Given the description of an element on the screen output the (x, y) to click on. 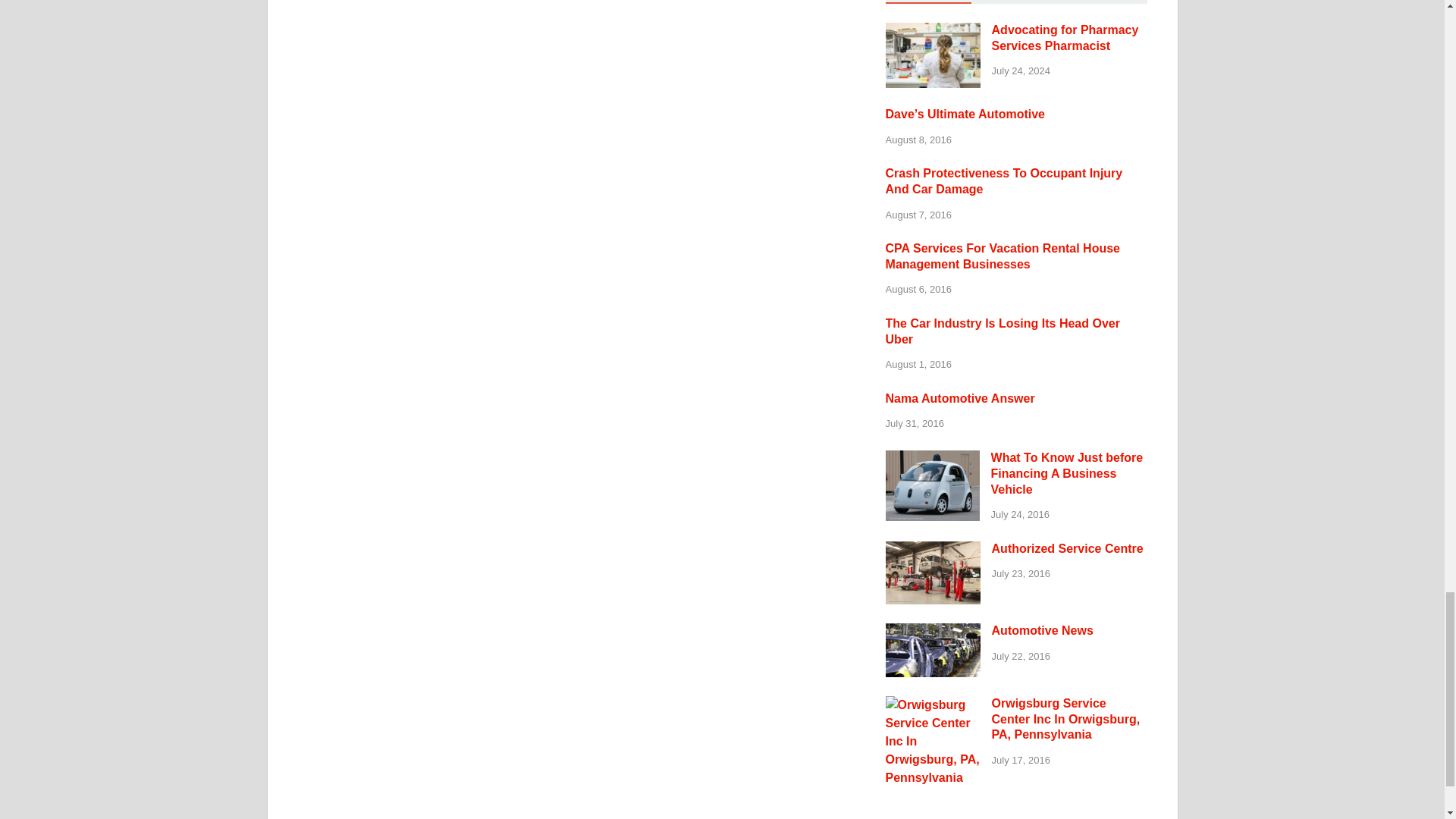
Authorized Service Centre (932, 549)
Advocating for Pharmacy Services Pharmacist (932, 31)
Automotive News (932, 631)
What To Know Just before Financing A Business Vehicle (932, 459)
